Given the description of an element on the screen output the (x, y) to click on. 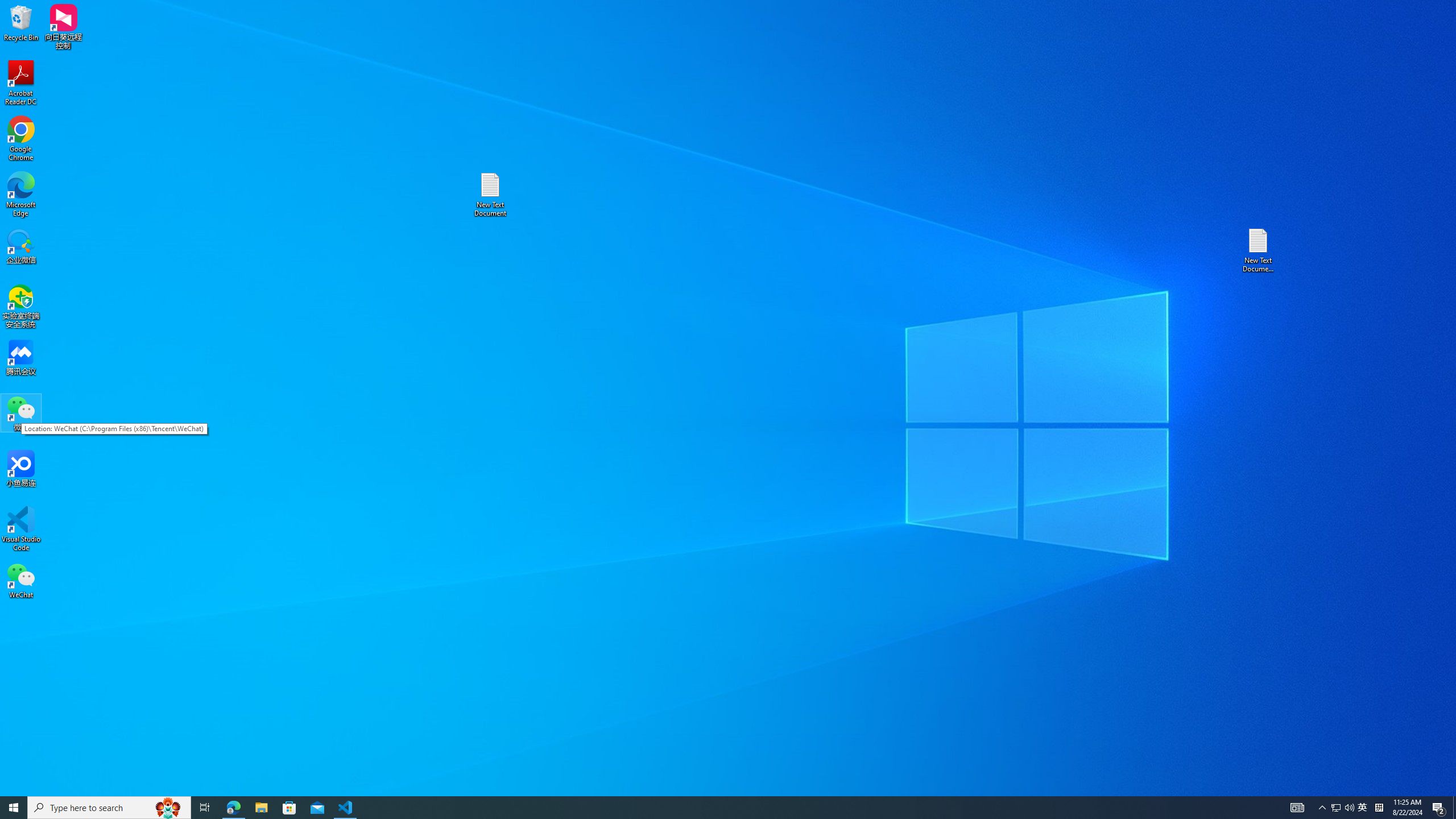
Visual Studio Code (1362, 807)
